Given the description of an element on the screen output the (x, y) to click on. 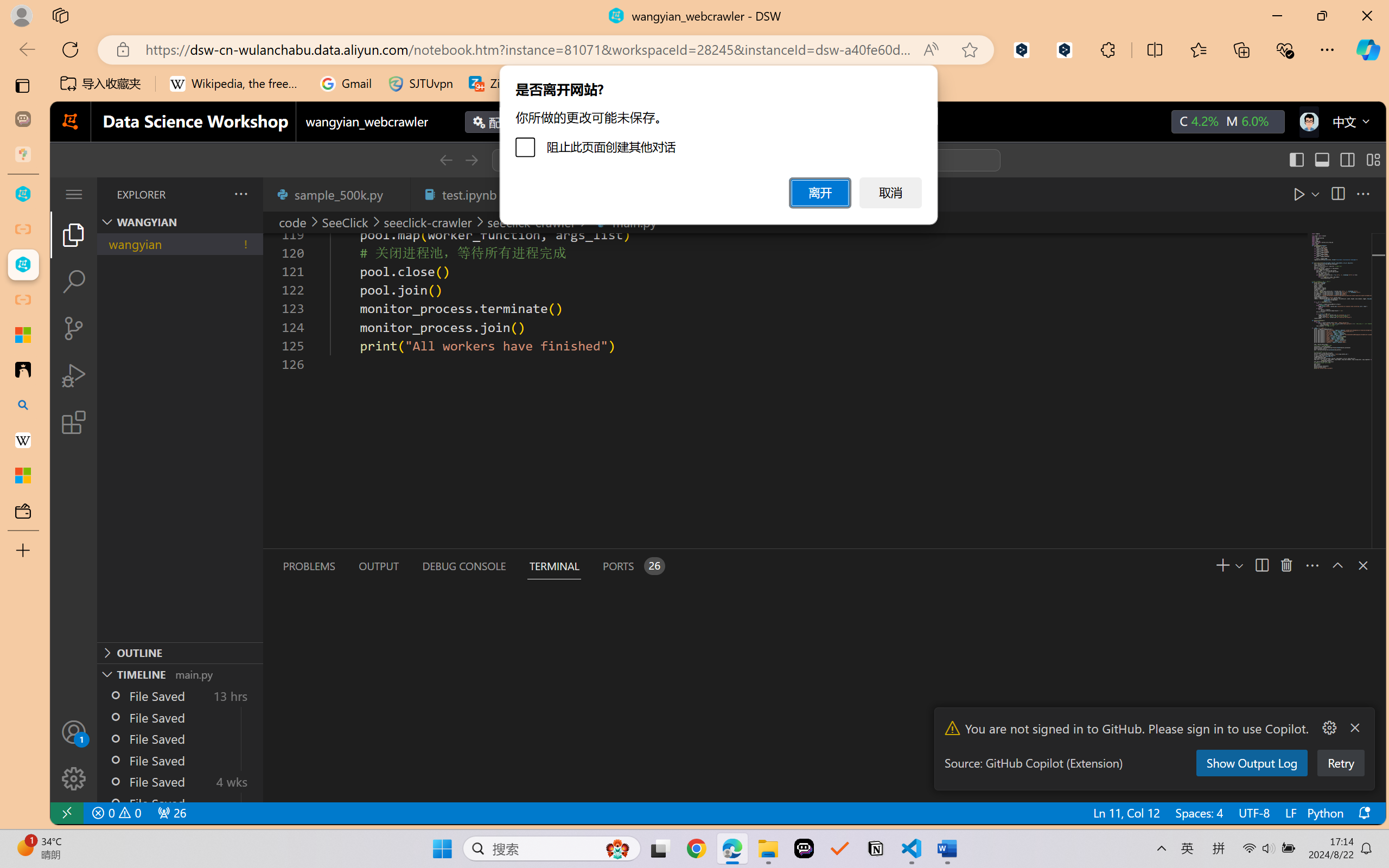
icon (1308, 121)
Toggle Primary Side Bar (Ctrl+B) (1295, 159)
Application Menu (73, 194)
Copilot (Ctrl+Shift+.) (1368, 49)
UTF-8 (1253, 812)
